Given the description of an element on the screen output the (x, y) to click on. 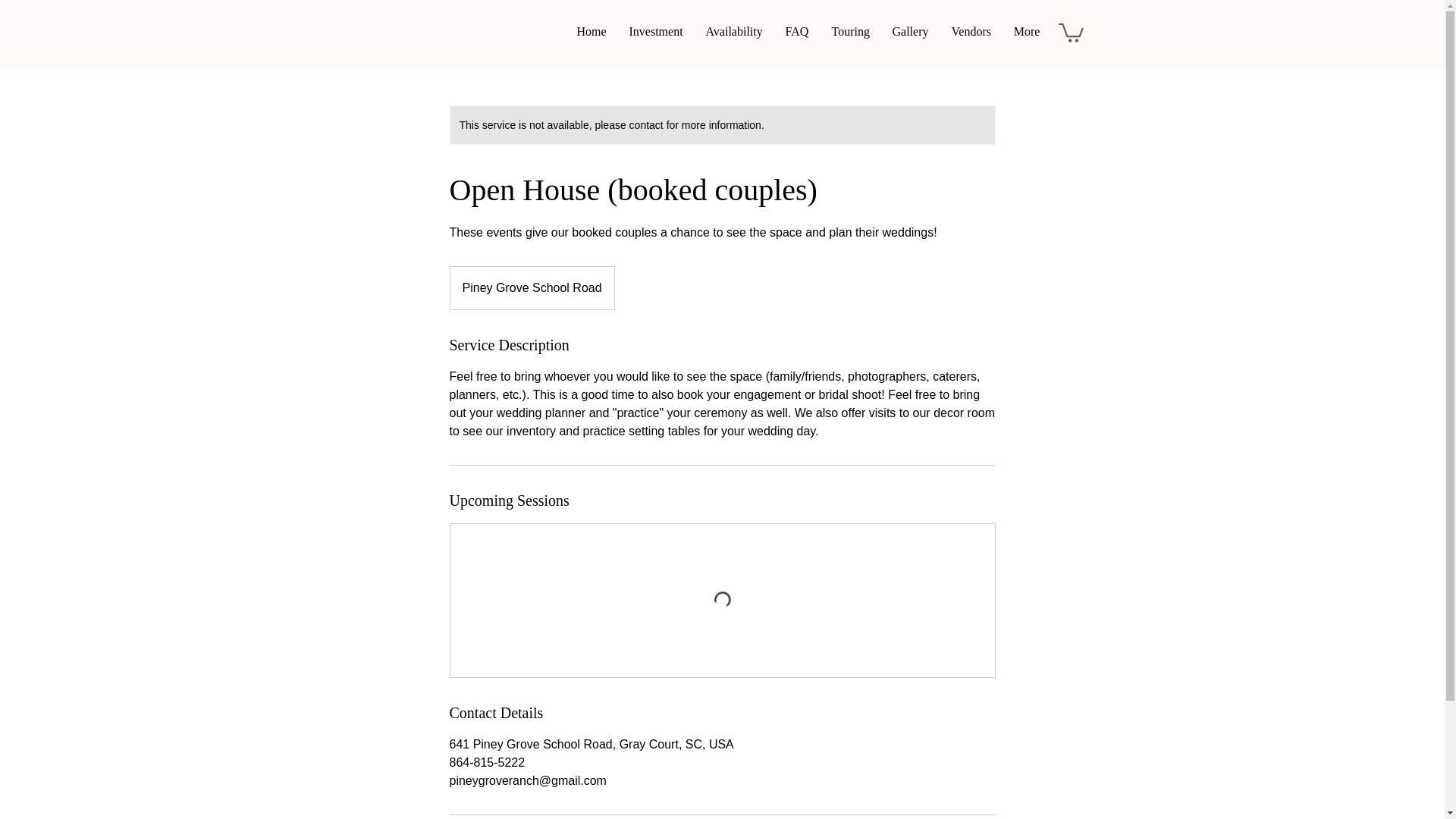
Availability (734, 31)
Home (591, 31)
Vendors (971, 31)
Touring (850, 31)
Gallery (910, 31)
FAQ (796, 31)
Investment (655, 31)
